Given the description of an element on the screen output the (x, y) to click on. 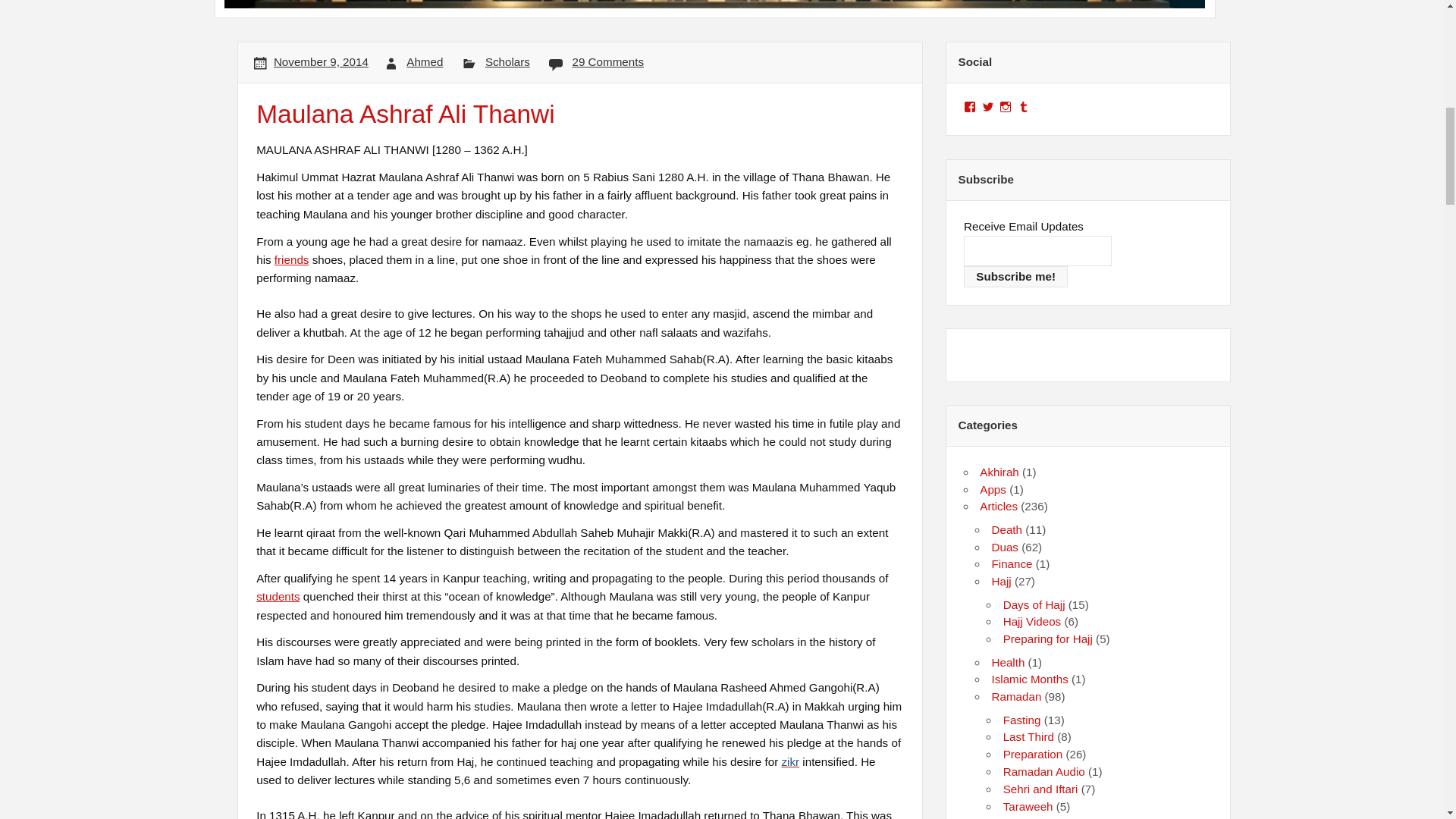
students (277, 595)
Scholars (506, 61)
29 Comments (607, 61)
friends (291, 259)
Ahmed (424, 61)
Subscribe me! (1015, 276)
5:33 pm (320, 61)
zikr (789, 761)
November 9, 2014 (320, 61)
View all posts by Ahmed (424, 61)
